Given the description of an element on the screen output the (x, y) to click on. 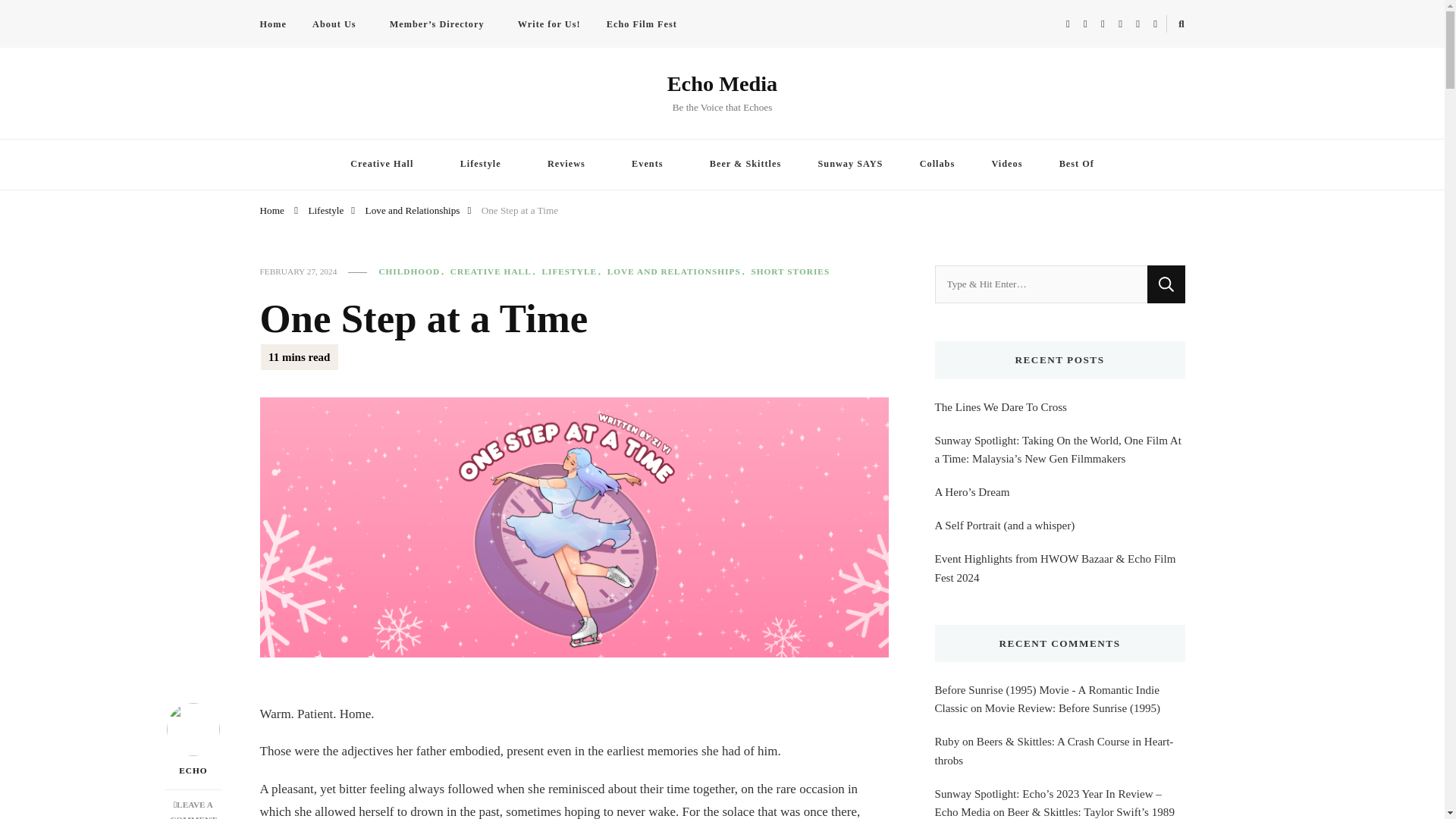
Search (1166, 284)
Echo Media (721, 83)
About Us (337, 24)
Search (1154, 26)
Write for Us! (549, 24)
Search (1166, 284)
Echo Film Fest (645, 24)
Home (278, 24)
Creative Hall (386, 164)
